Given the description of an element on the screen output the (x, y) to click on. 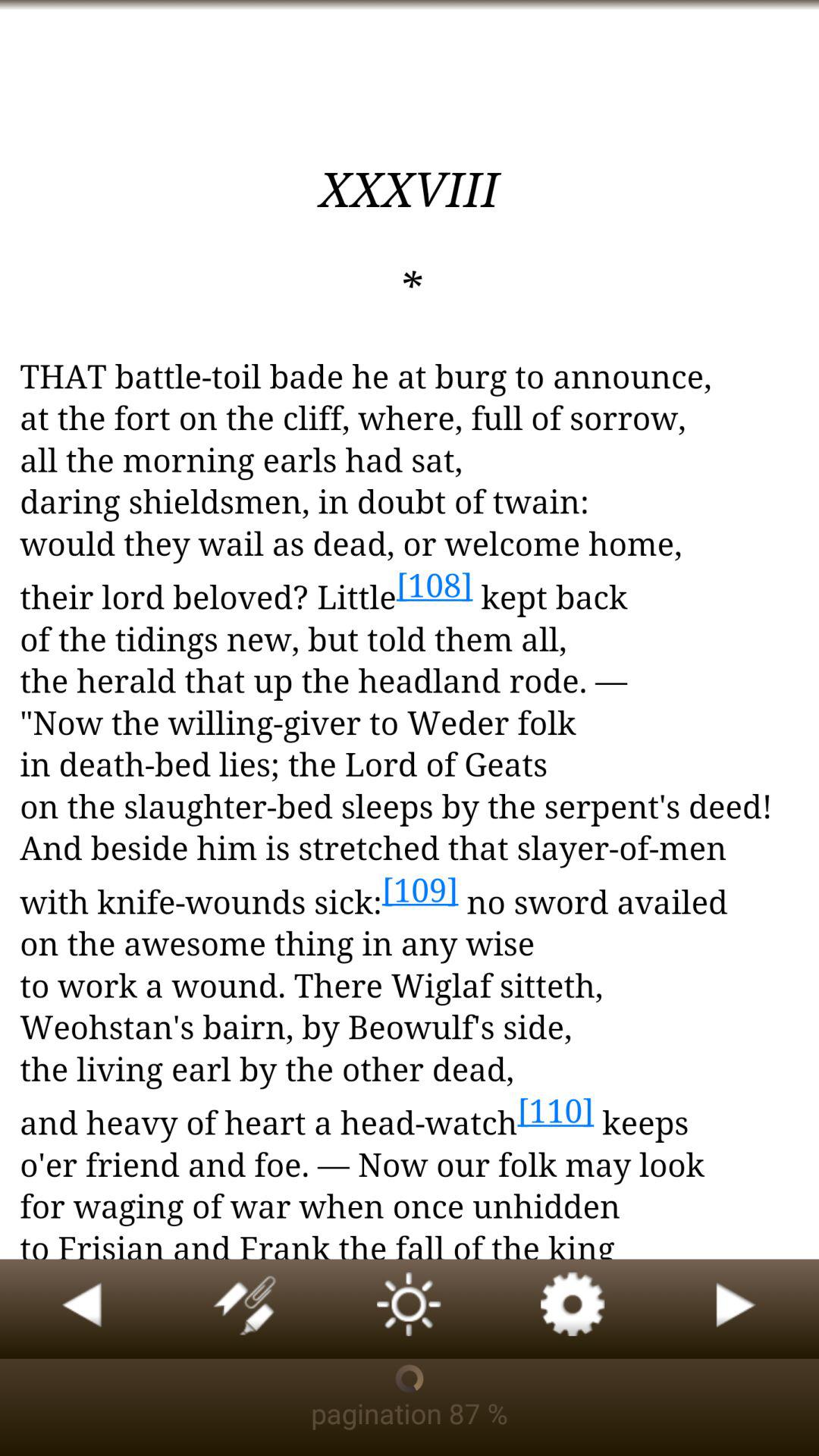
the button lets you play or start your book (737, 1308)
